Given the description of an element on the screen output the (x, y) to click on. 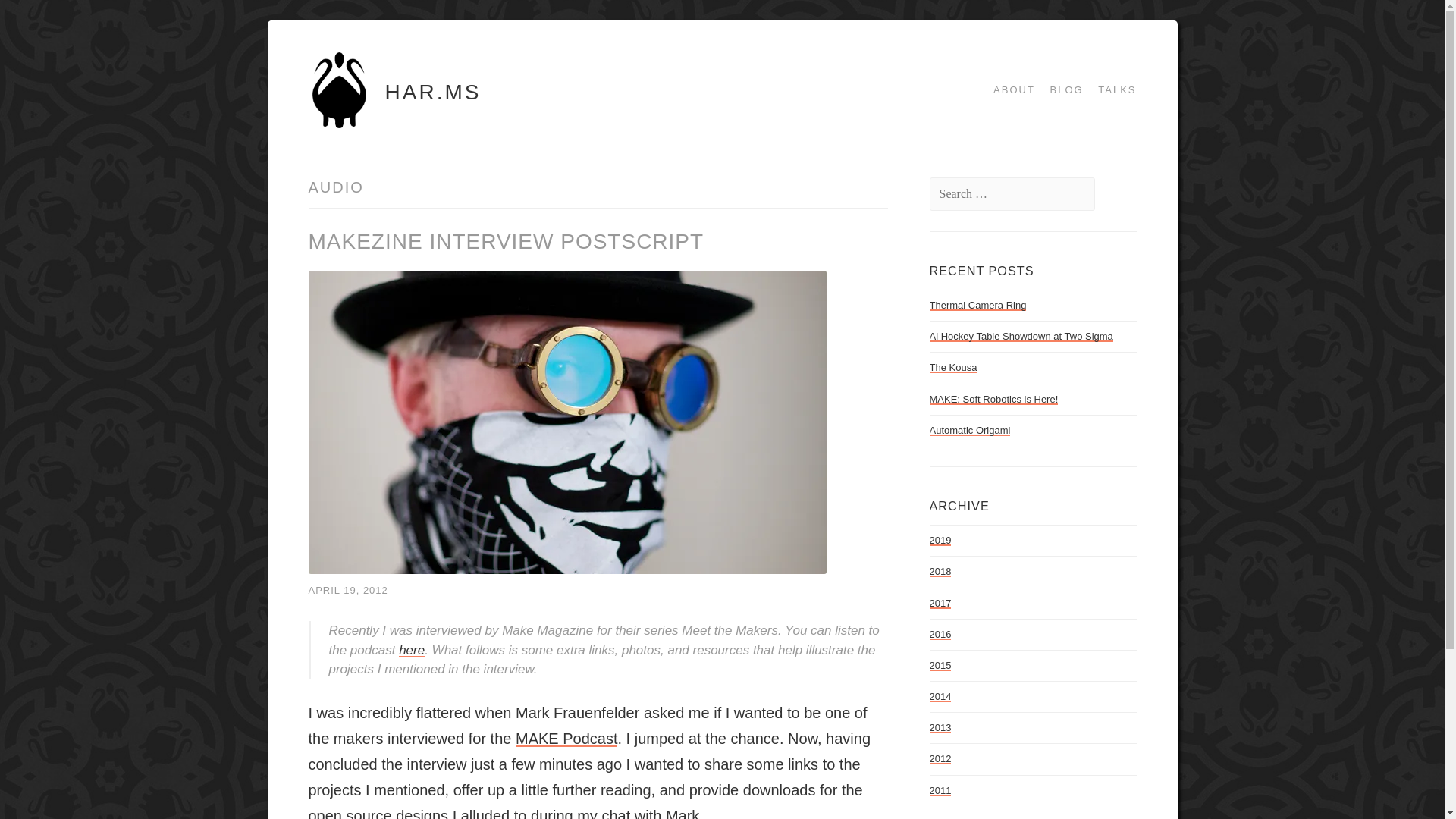
Ai Hockey Table Showdown at Two Sigma (1021, 336)
TALKS (1111, 90)
2014 (941, 696)
BLOG (1061, 90)
2018 (941, 571)
2015 (941, 665)
APRIL 19, 2012 (347, 590)
here (411, 649)
Thermal Camera Ring (978, 305)
Automatic Origami (970, 430)
2011 (941, 790)
2017 (941, 603)
2016 (941, 633)
ABOUT (1008, 90)
2012 (941, 758)
